Given the description of an element on the screen output the (x, y) to click on. 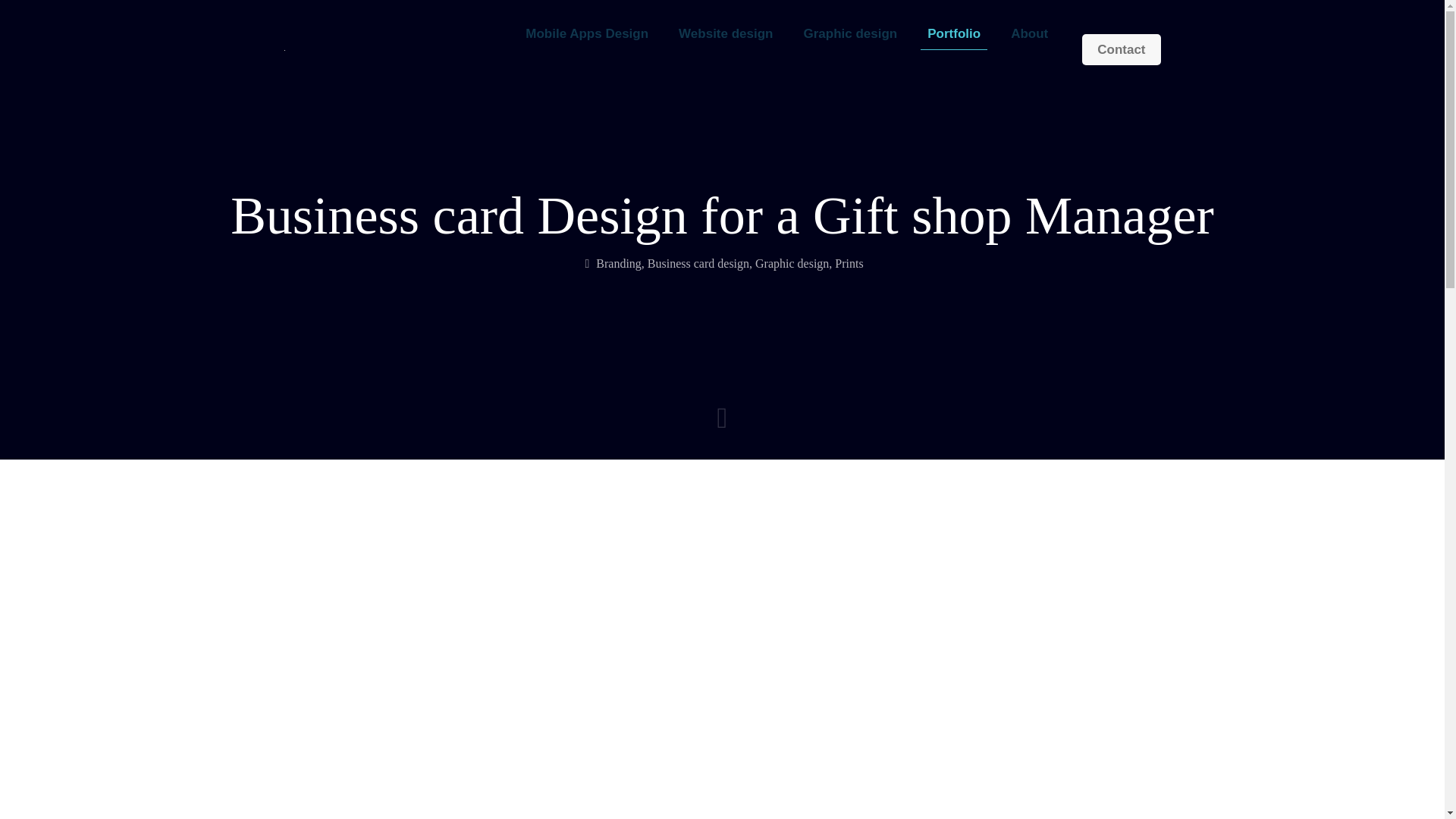
About (1028, 33)
Contact (1120, 48)
Website design (725, 33)
Branding (618, 263)
Graphic design (791, 263)
Prints (848, 263)
Mobile Apps Design (587, 33)
Business card design (698, 263)
Graphic design (849, 33)
Portfolio (953, 33)
